Given the description of an element on the screen output the (x, y) to click on. 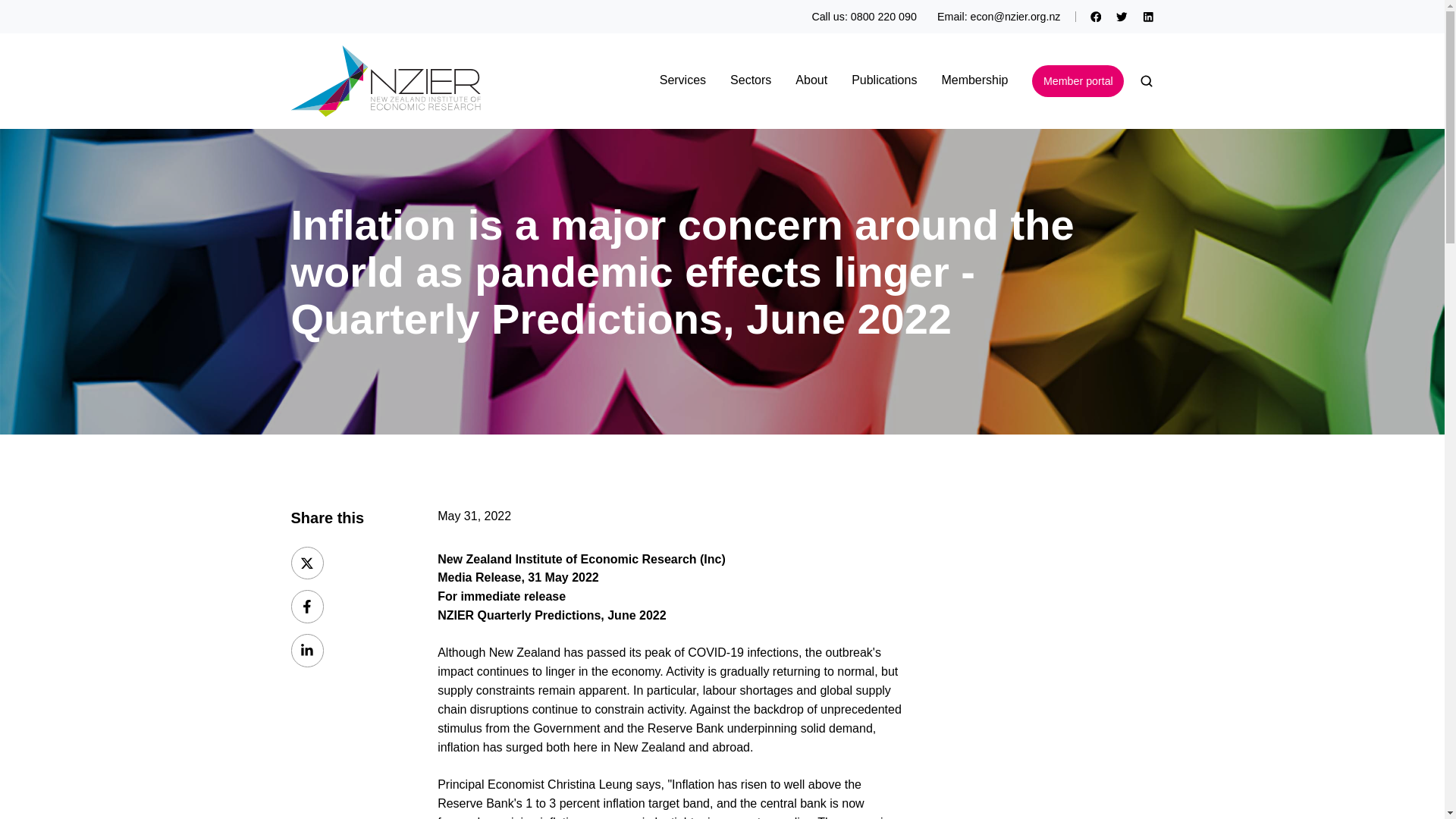
Services (682, 80)
About (810, 80)
0800 220 090 (883, 16)
Sectors (750, 80)
NZIER-logo-wide (385, 81)
